Given the description of an element on the screen output the (x, y) to click on. 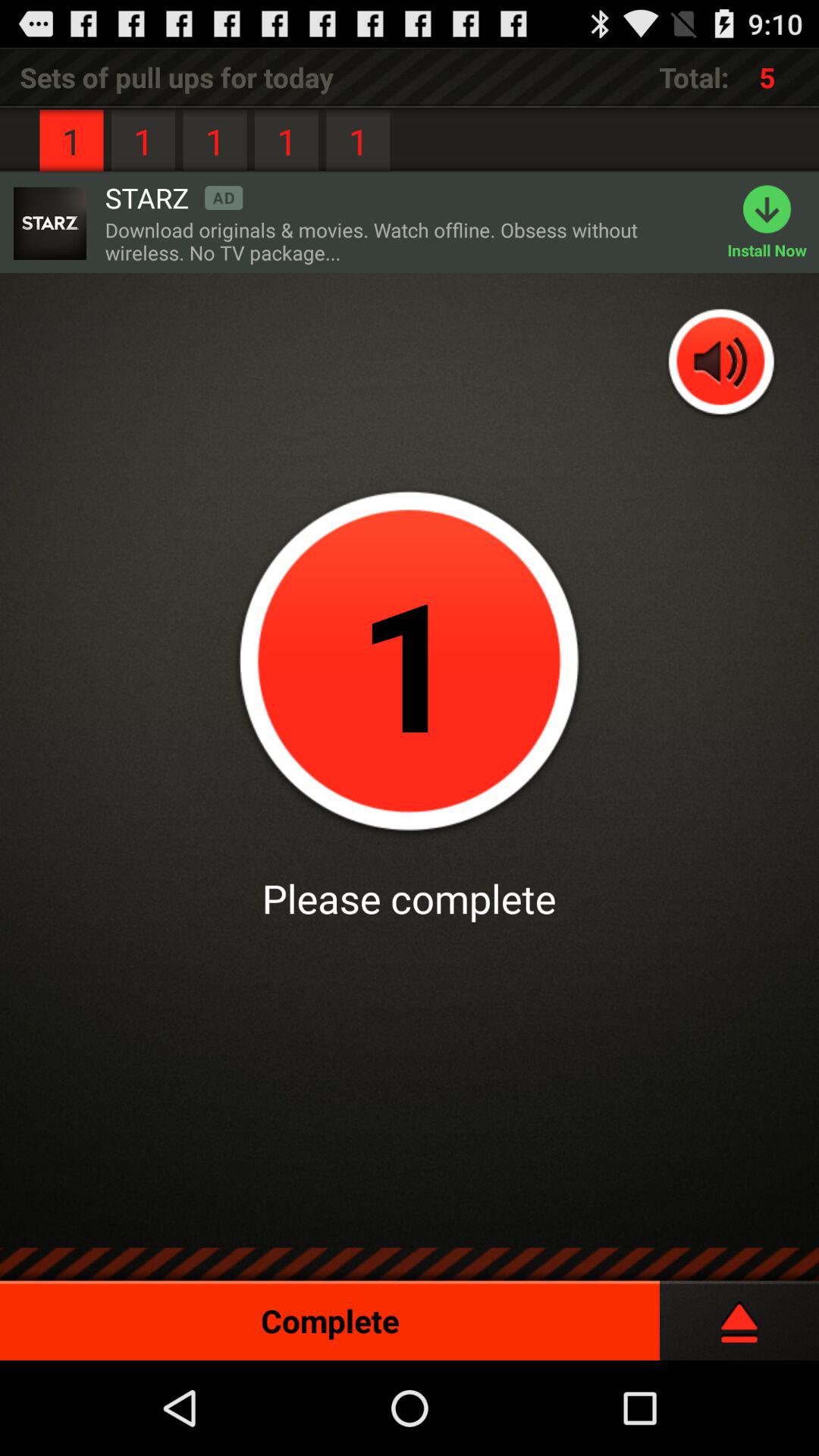
turn on the download originals movies icon (408, 241)
